Given the description of an element on the screen output the (x, y) to click on. 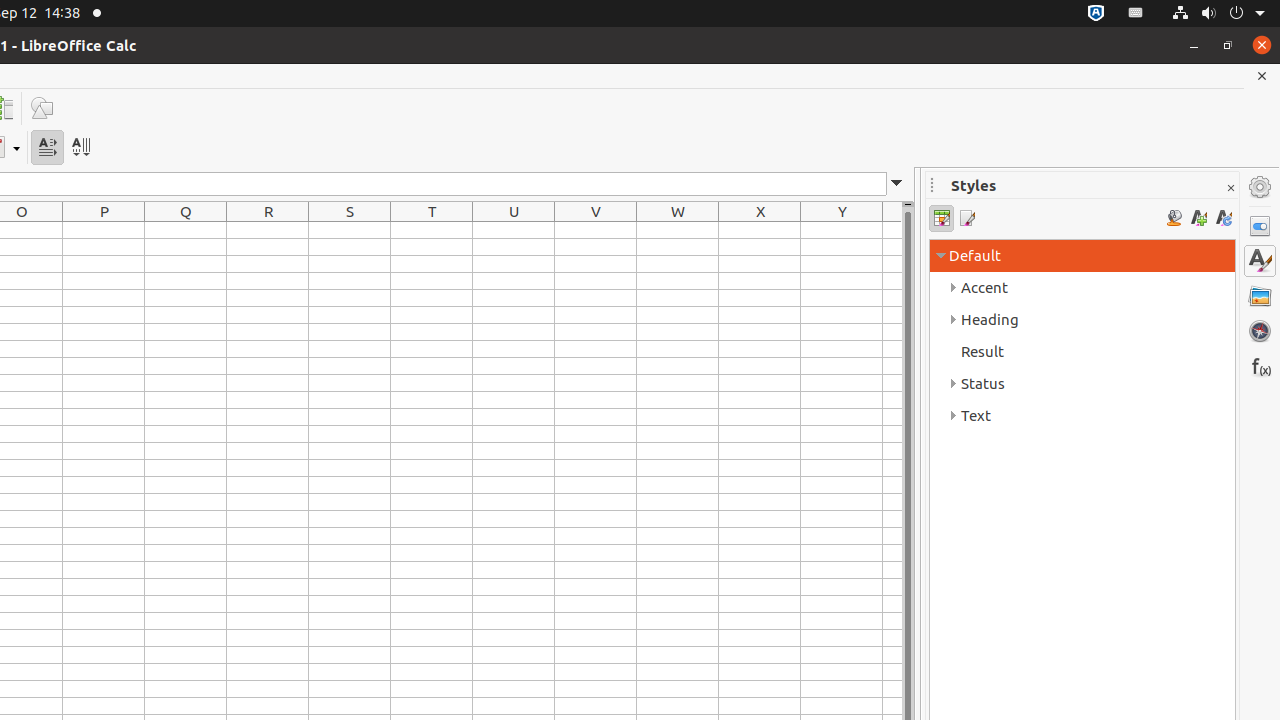
:1.21/StatusNotifierItem Element type: menu (1136, 13)
Gallery Element type: radio-button (1260, 296)
System Element type: menu (1218, 13)
Cell Styles Element type: push-button (941, 218)
:1.72/StatusNotifierItem Element type: menu (1096, 13)
